Given the description of an element on the screen output the (x, y) to click on. 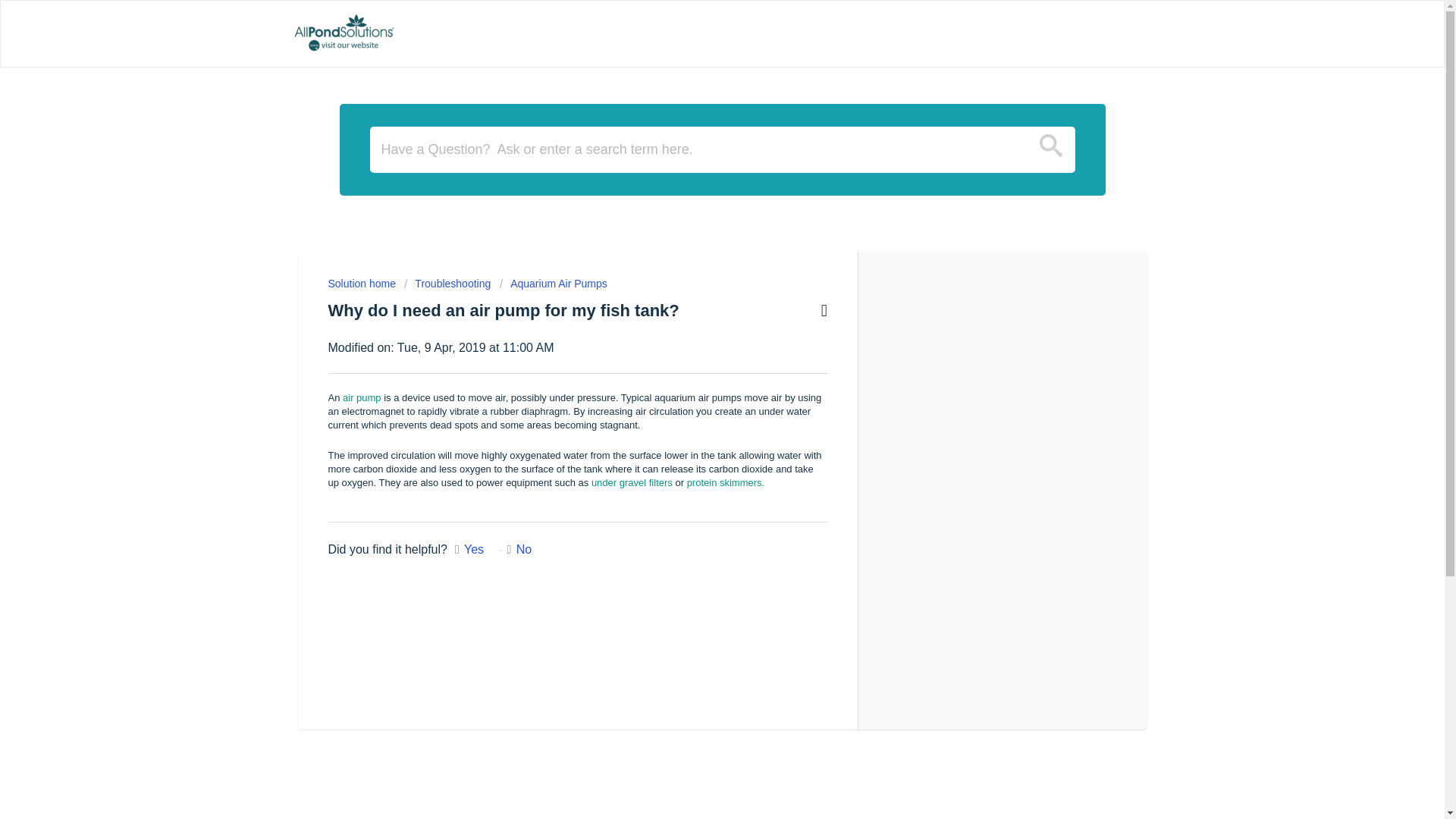
protein skimmers. (726, 482)
Search (1050, 150)
Solution home (362, 283)
 air pump (359, 397)
Troubleshooting (447, 283)
Aquarium Air Pumps (553, 283)
under gravel filters (631, 482)
